Given the description of an element on the screen output the (x, y) to click on. 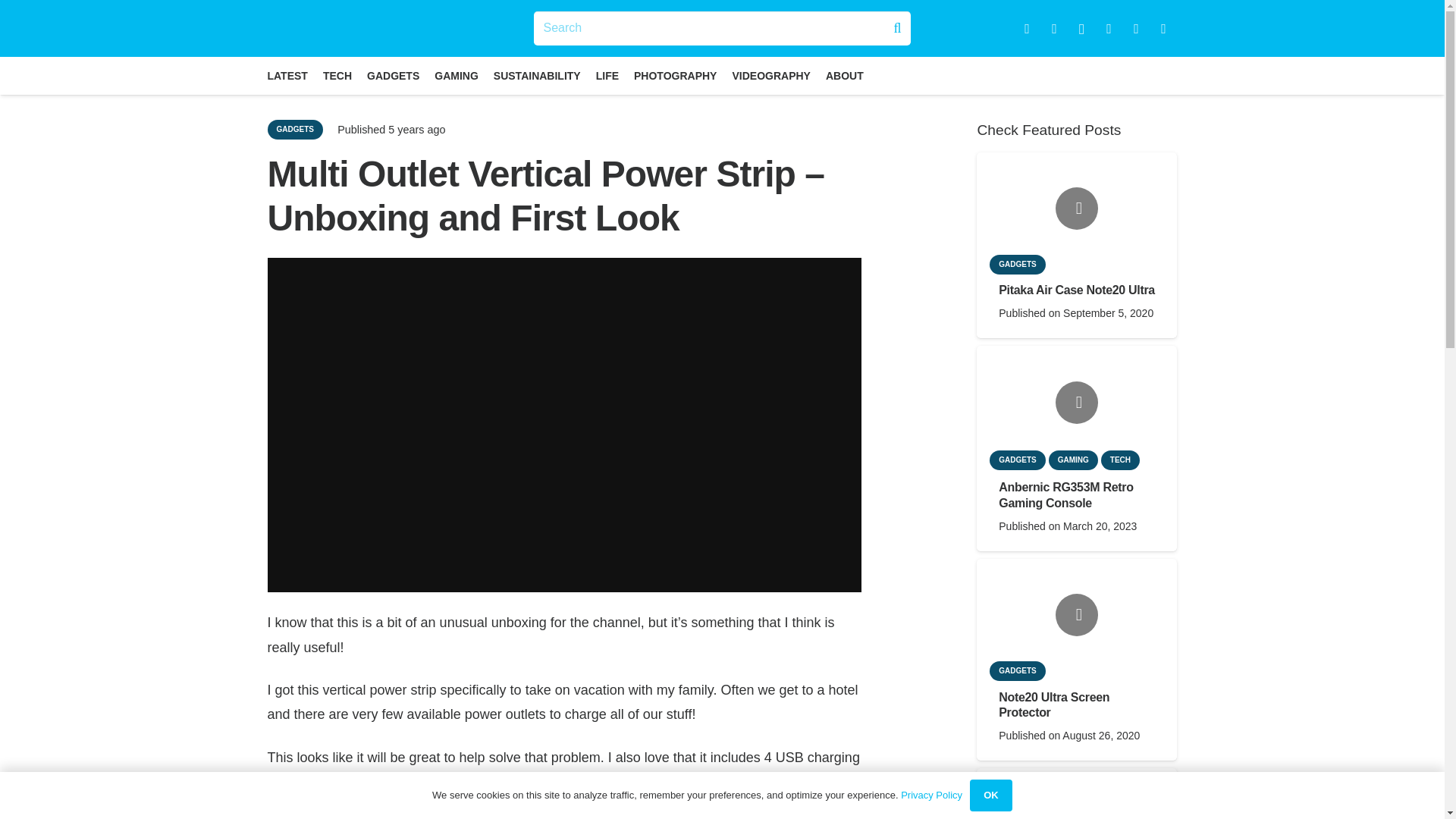
GitHub (1163, 28)
YouTube (1109, 28)
Facebook (1027, 28)
PHOTOGRAPHY (674, 75)
TECH (337, 75)
GADGETS (392, 75)
GADGETS (293, 129)
GAMING (456, 75)
LATEST (286, 75)
VIDEOGRAPHY (769, 75)
